Given the description of an element on the screen output the (x, y) to click on. 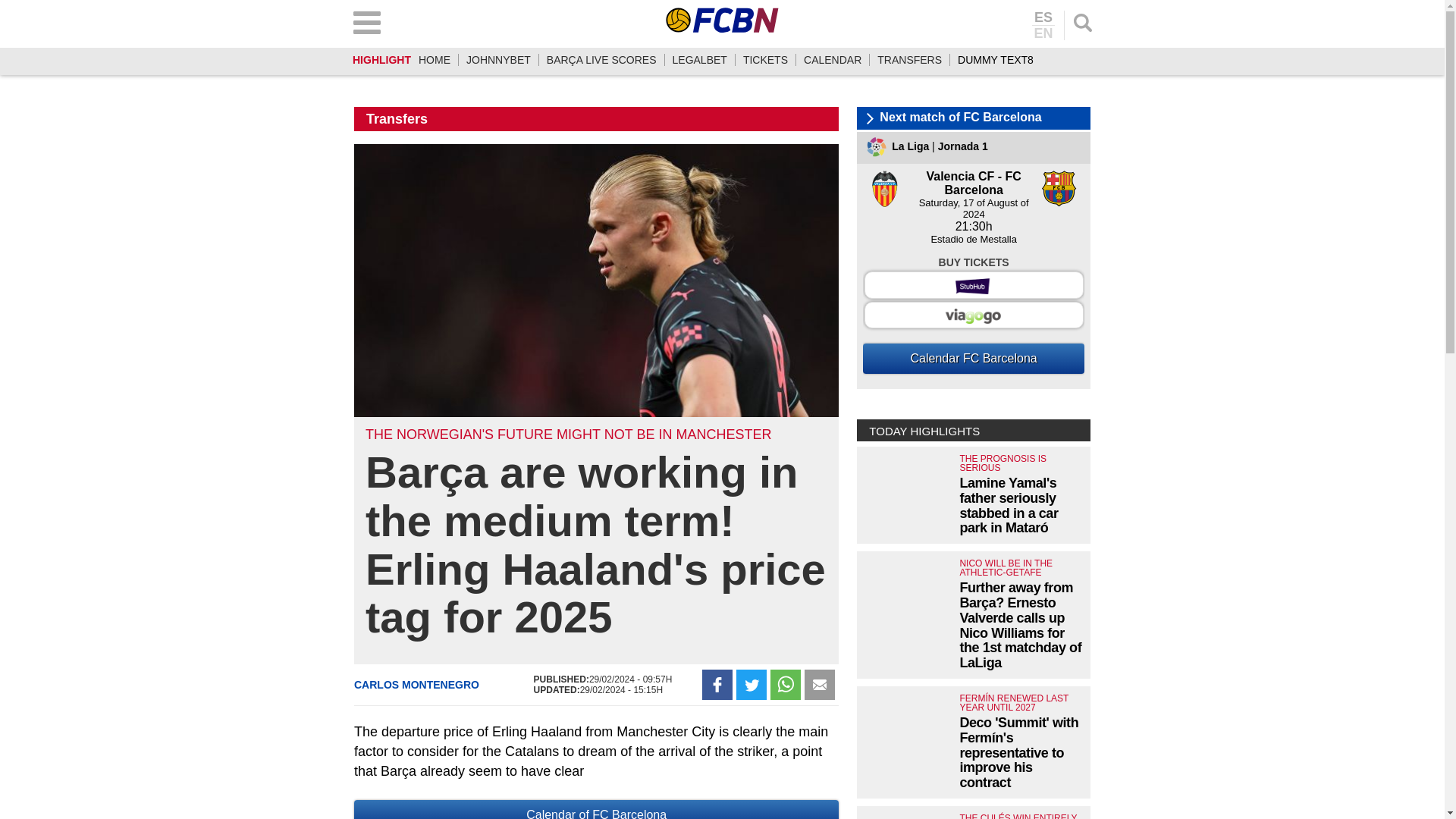
LEGALBET (699, 60)
LEGALBET (699, 60)
TRANSFERS (909, 60)
JOHNNEYBET (498, 60)
CARLOS MONTENEGRO (416, 684)
English (1043, 32)
Castellano (1043, 17)
CALENDAR (832, 60)
FCBN (721, 19)
JOHNNYBET (498, 60)
